Given the description of an element on the screen output the (x, y) to click on. 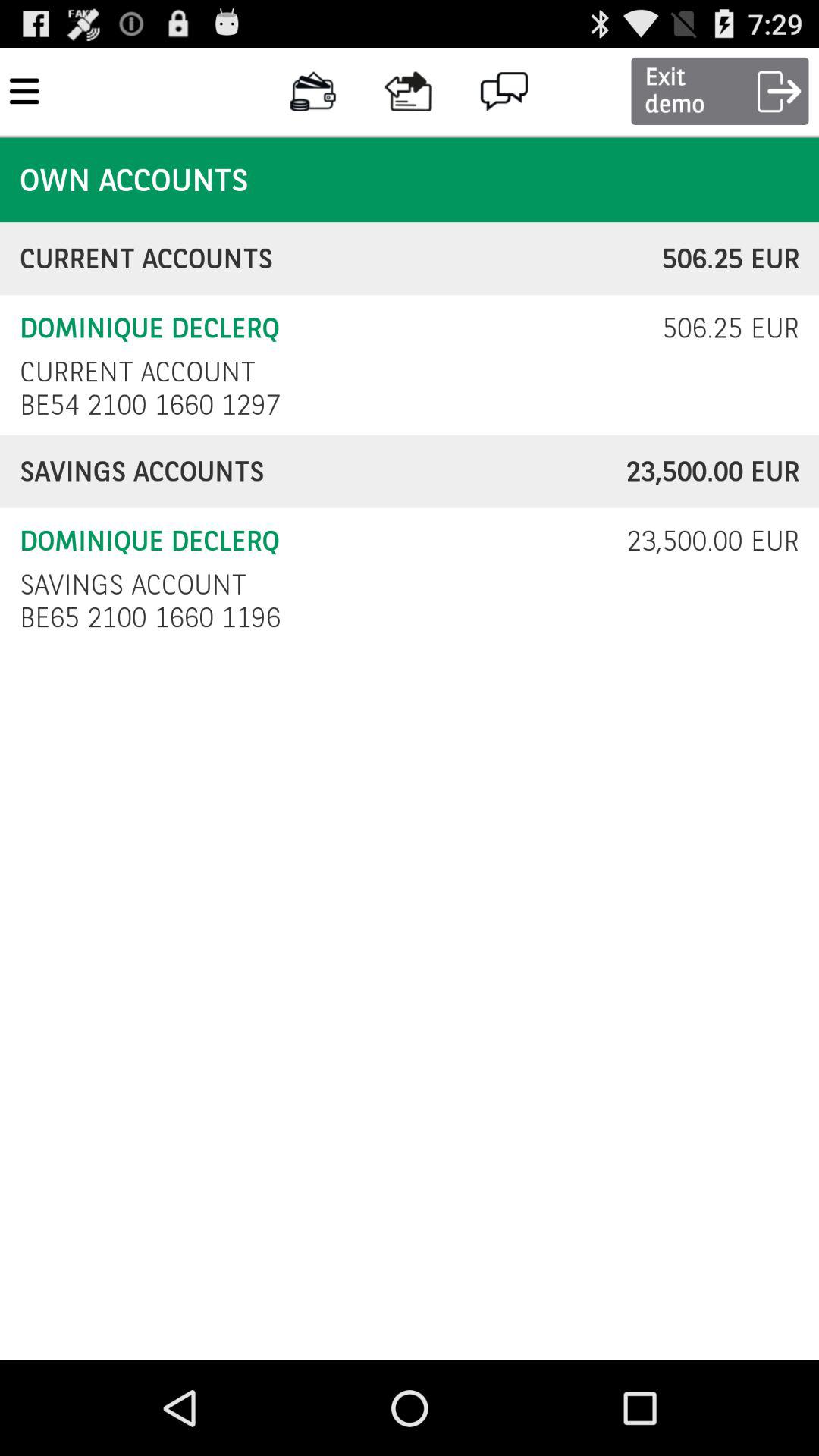
turn on current accounts icon (340, 258)
